Given the description of an element on the screen output the (x, y) to click on. 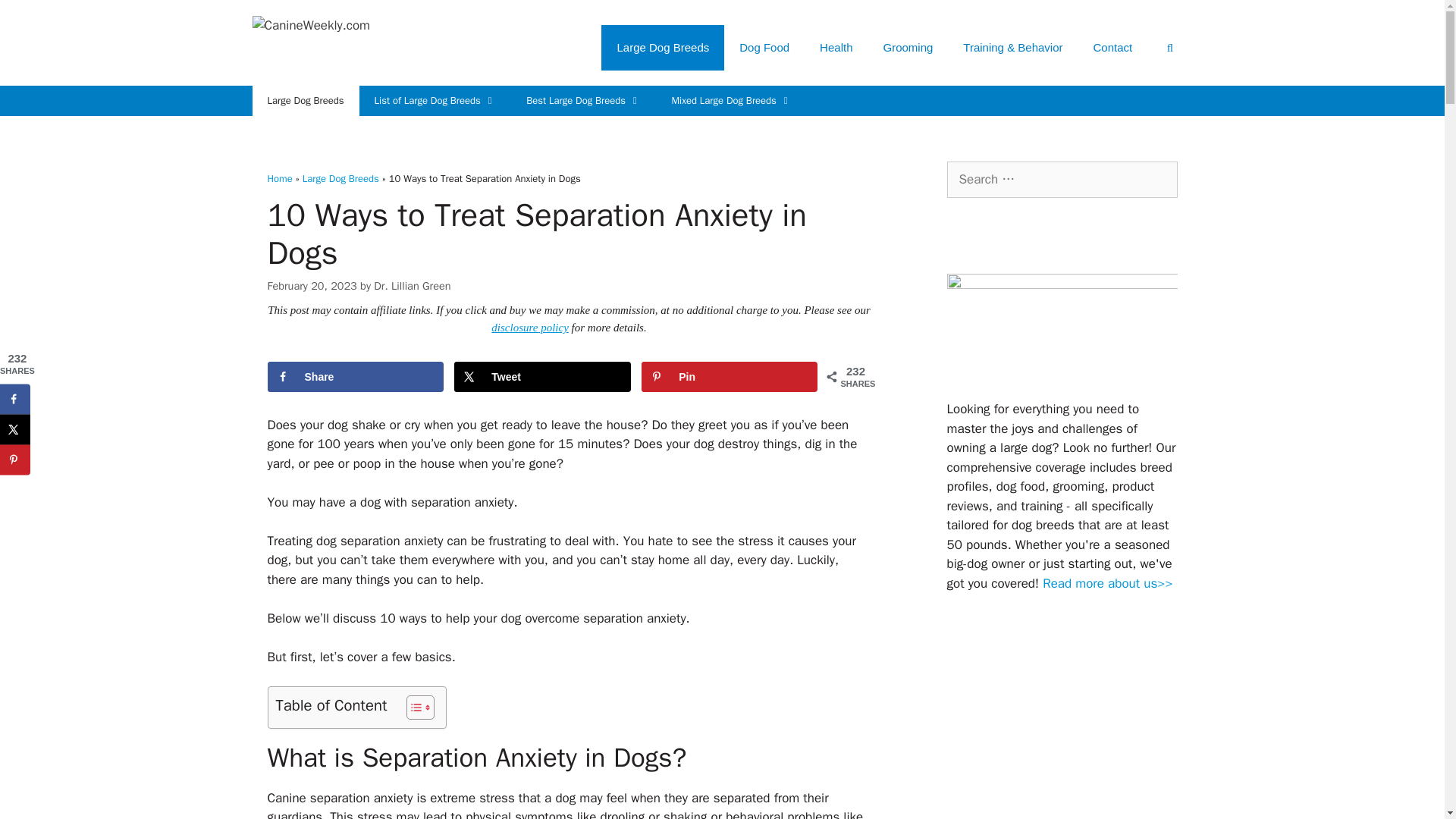
Large Dog Breeds (304, 100)
Share on X (542, 376)
List of Large Dog Breeds (435, 100)
Grooming (907, 47)
Large Dog Breeds (662, 47)
Health (836, 47)
Dog Food (764, 47)
Contact (1113, 47)
View all posts by Dr. Lillian Green (411, 285)
Save to Pinterest (729, 376)
